Given the description of an element on the screen output the (x, y) to click on. 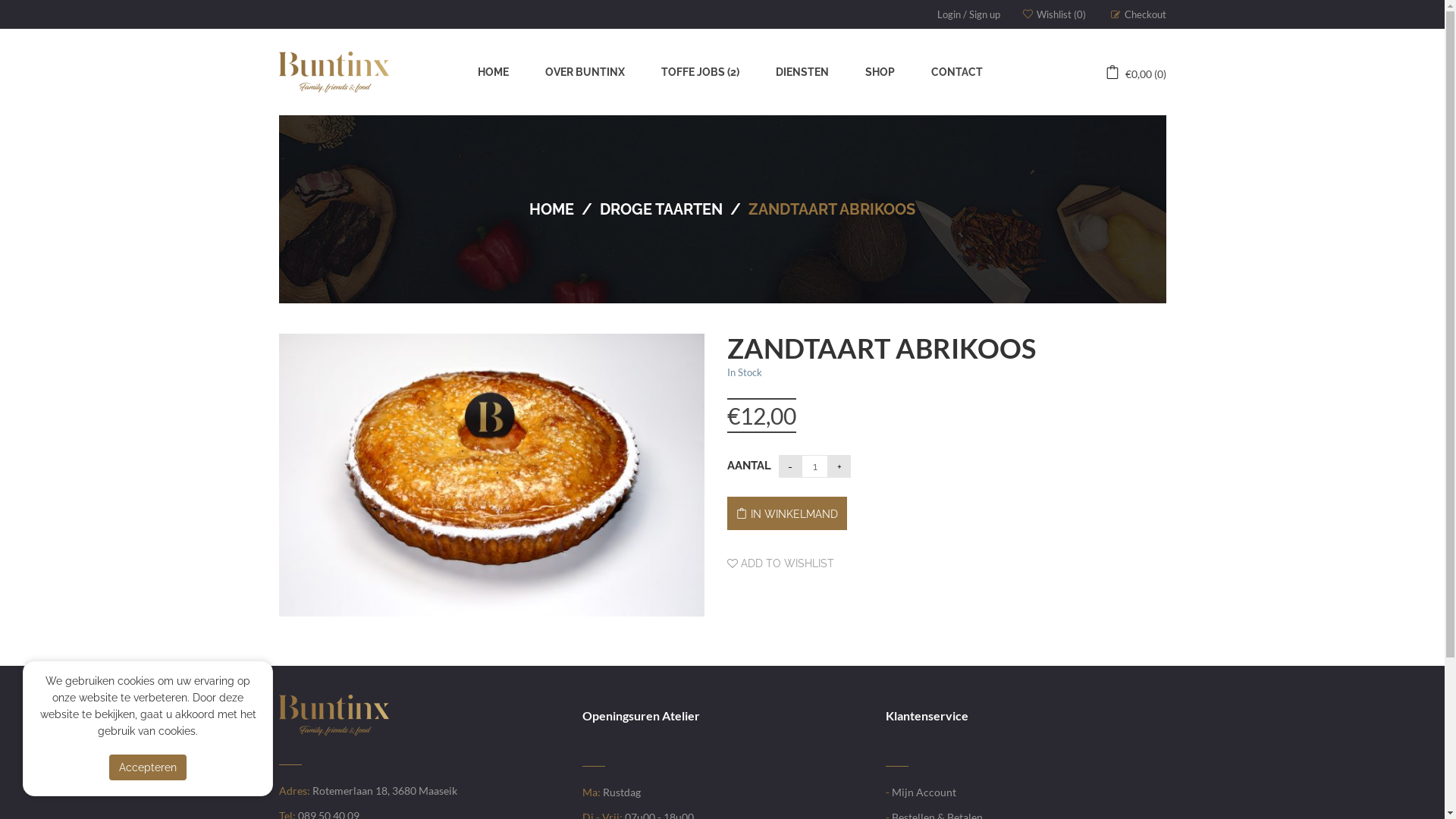
TOFFE JOBS (2) Element type: text (700, 71)
Buntinx Element type: hover (334, 71)
SHOP Element type: text (879, 71)
Qty Element type: hover (814, 466)
HOME Element type: text (492, 71)
Accepteren Element type: text (147, 767)
Sign up Element type: text (984, 14)
HOME Element type: text (551, 209)
DIENSTEN Element type: text (801, 71)
OVER BUNTINX Element type: text (584, 71)
ADD TO WISHLIST Element type: text (780, 563)
CONTACT Element type: text (956, 71)
Checkout Element type: text (1137, 14)
DROGE TAARTEN Element type: text (660, 209)
Rotemerlaan 18, 3680 Maaseik Element type: text (384, 790)
Wishlist (0) Element type: text (1053, 14)
Login Element type: text (948, 14)
Mijn Account Element type: text (923, 791)
IN WINKELMAND Element type: text (787, 513)
